Given the description of an element on the screen output the (x, y) to click on. 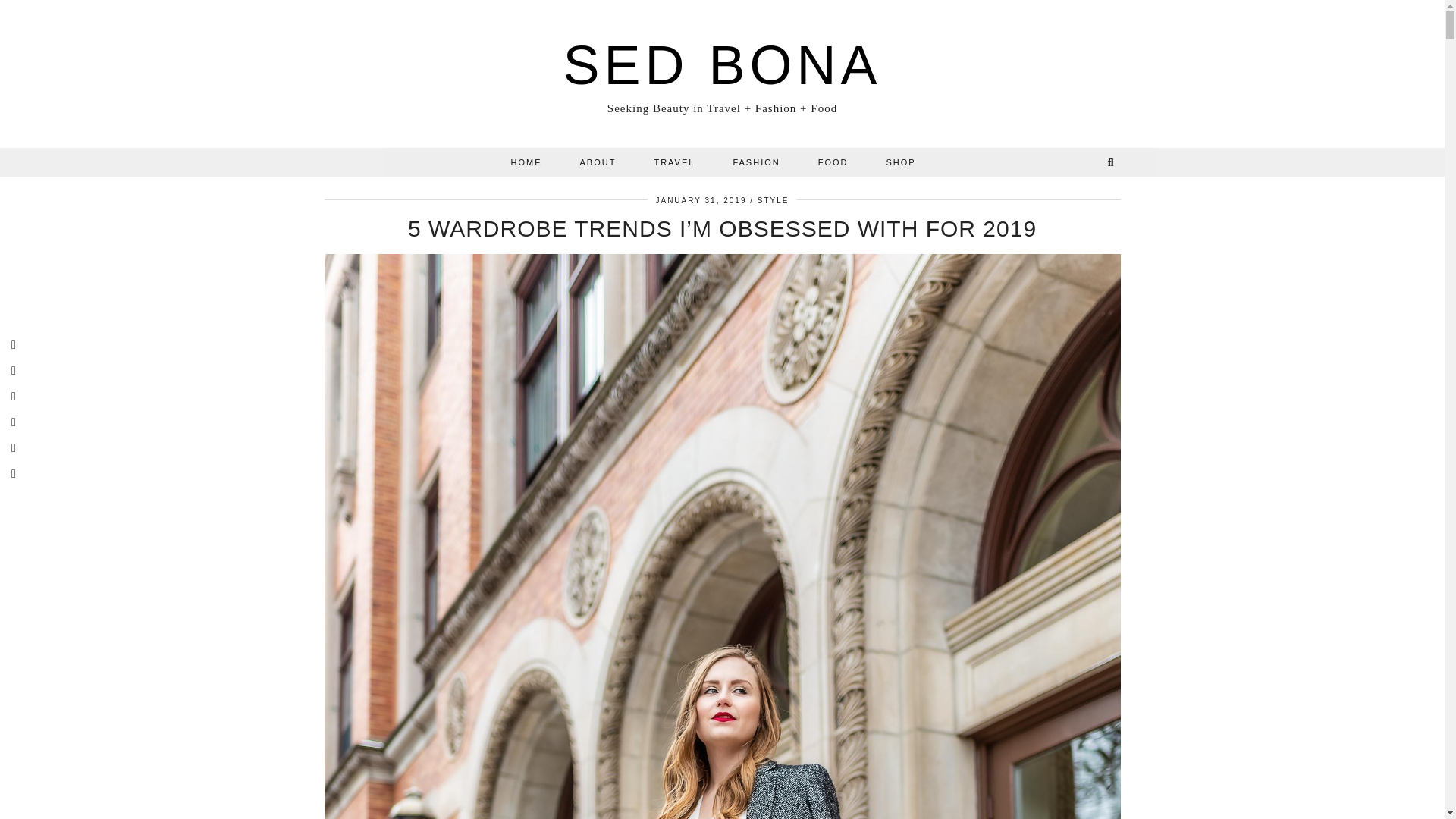
Sed Bona (721, 65)
